Given the description of an element on the screen output the (x, y) to click on. 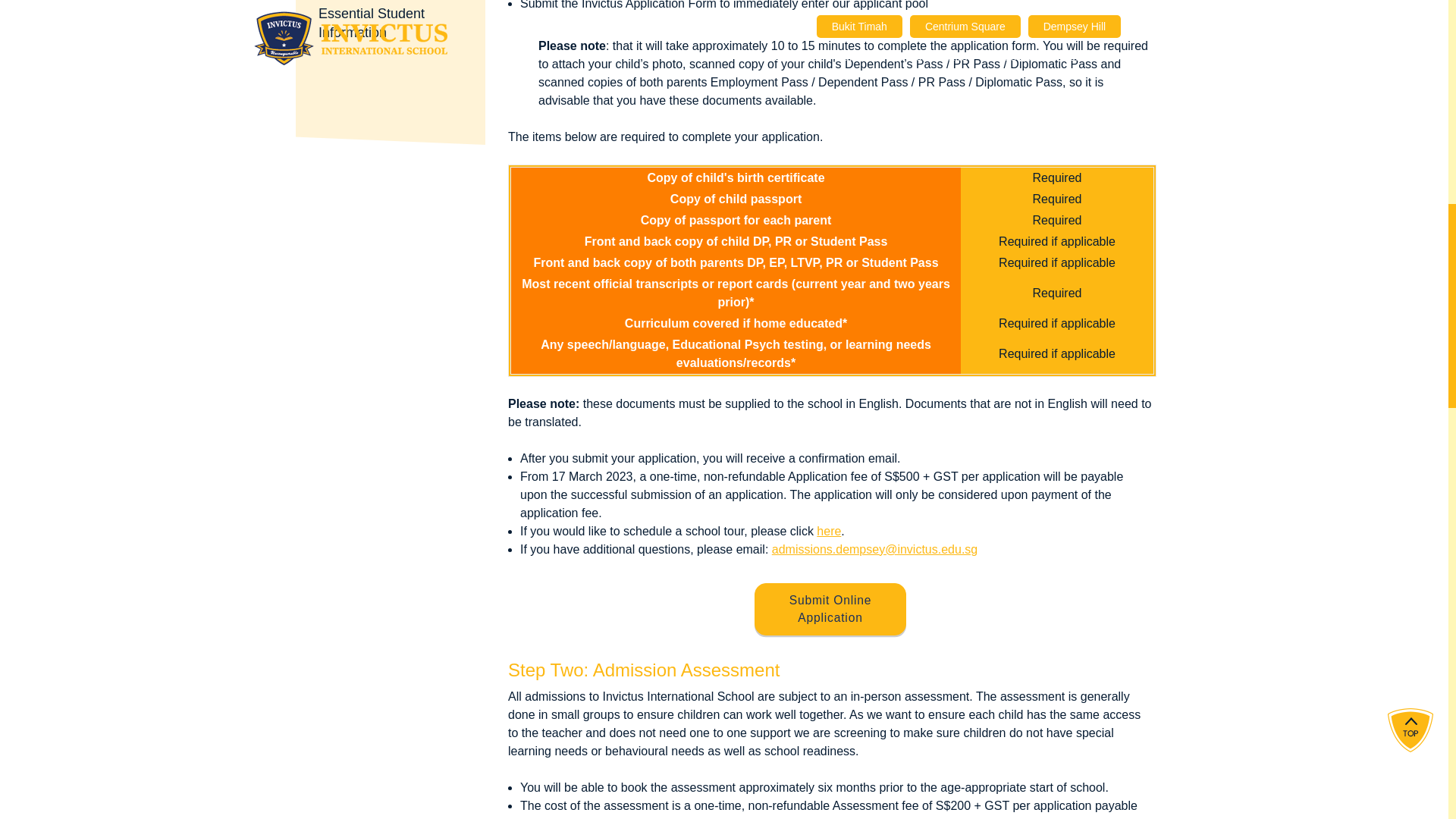
here (828, 530)
Submit Online Application (829, 609)
